Given the description of an element on the screen output the (x, y) to click on. 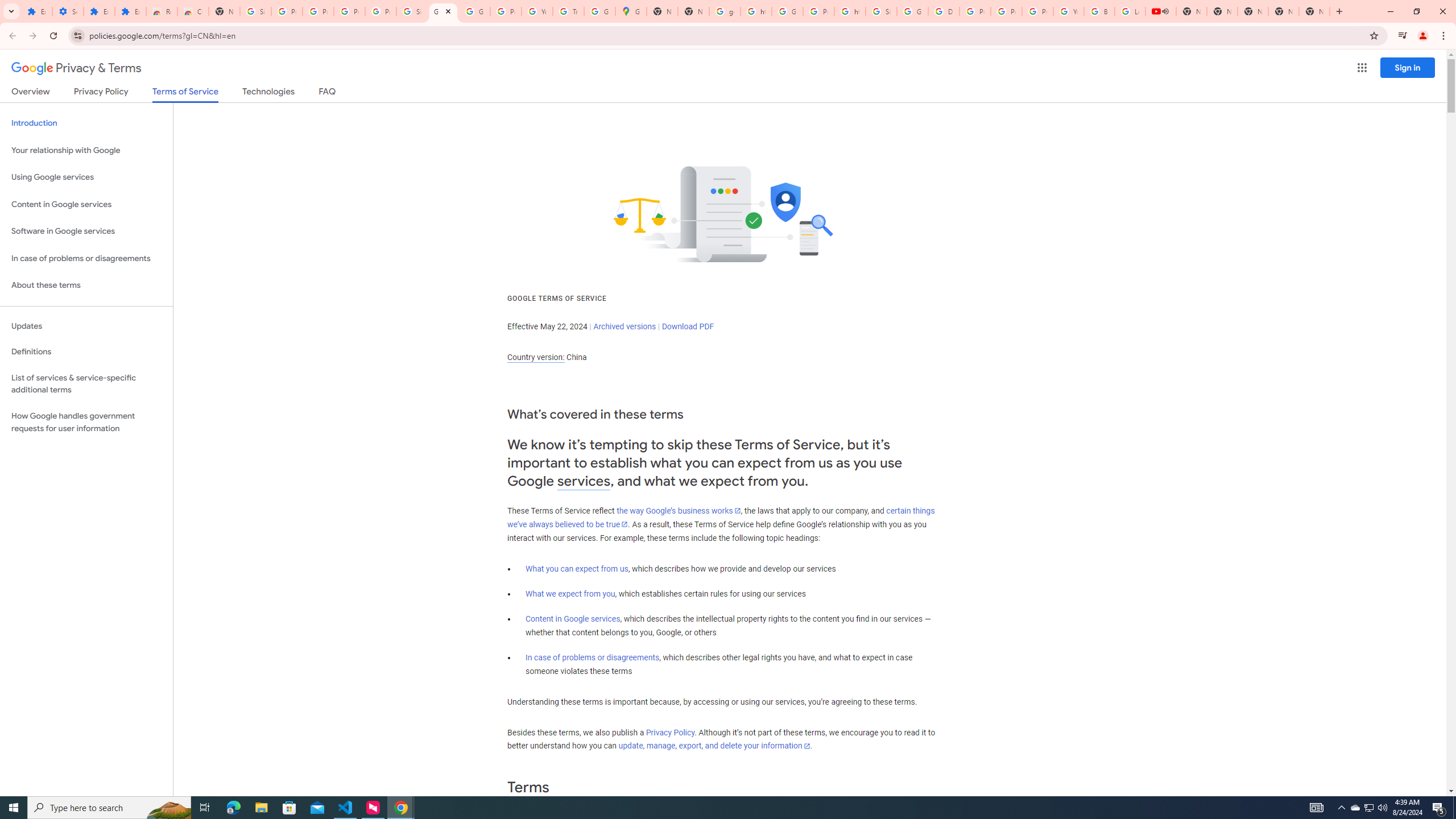
Your relationship with Google (86, 150)
How Google handles government requests for user information (86, 422)
update, manage, export, and delete your information (714, 746)
Content in Google services (572, 618)
New Tab (693, 11)
https://scholar.google.com/ (756, 11)
